Given the description of an element on the screen output the (x, y) to click on. 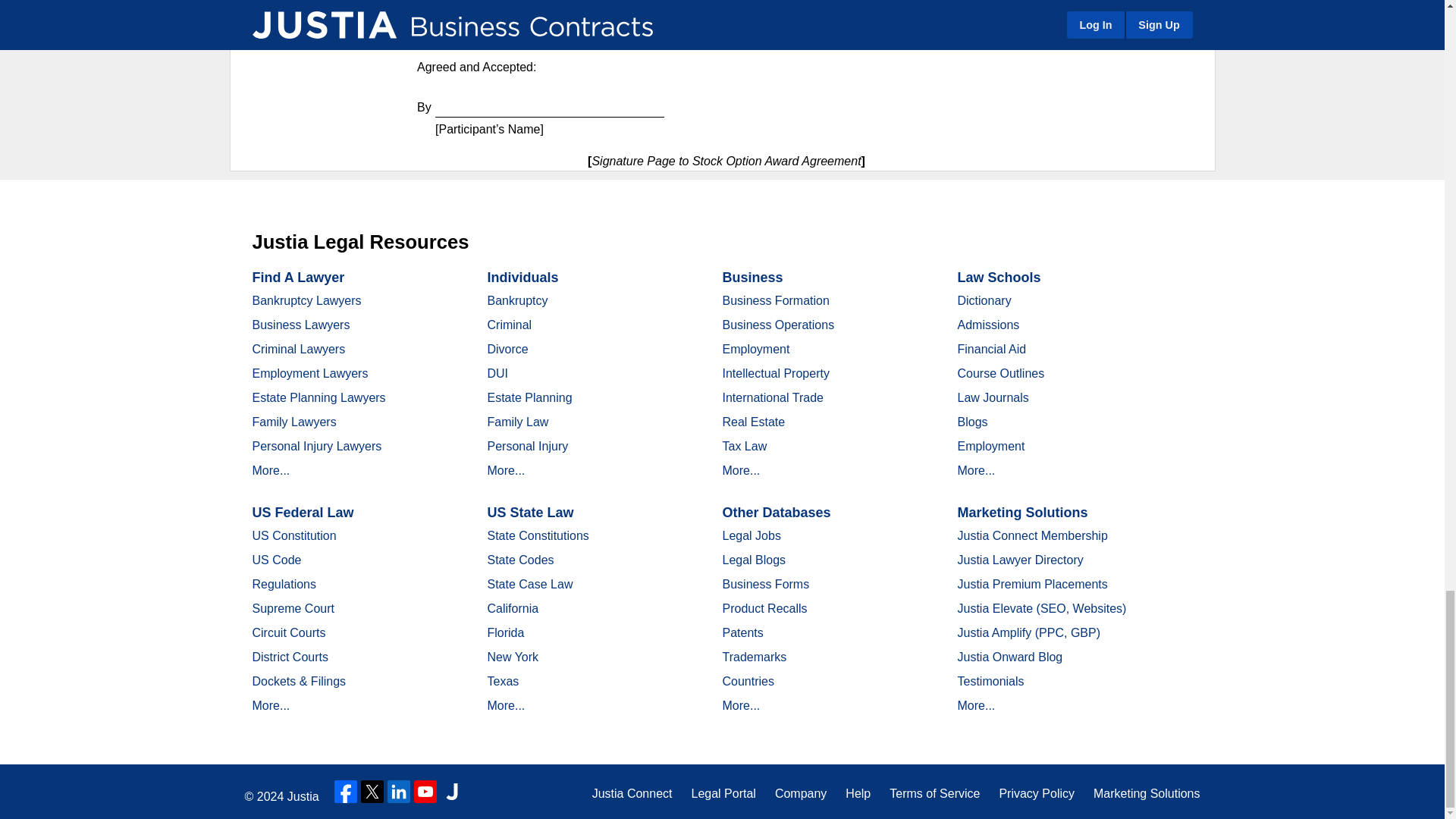
Justia Lawyer Directory (452, 791)
YouTube (424, 791)
Bankruptcy Lawyers (306, 300)
Find A Lawyer (297, 277)
LinkedIn (398, 791)
Employment Lawyers (309, 373)
Family Lawyers (293, 421)
Estate Planning Lawyers (318, 397)
Facebook (345, 791)
Twitter (372, 791)
Personal Injury Lawyers (316, 445)
More... (270, 470)
Business Lawyers (300, 324)
Criminal Lawyers (298, 349)
